Given the description of an element on the screen output the (x, y) to click on. 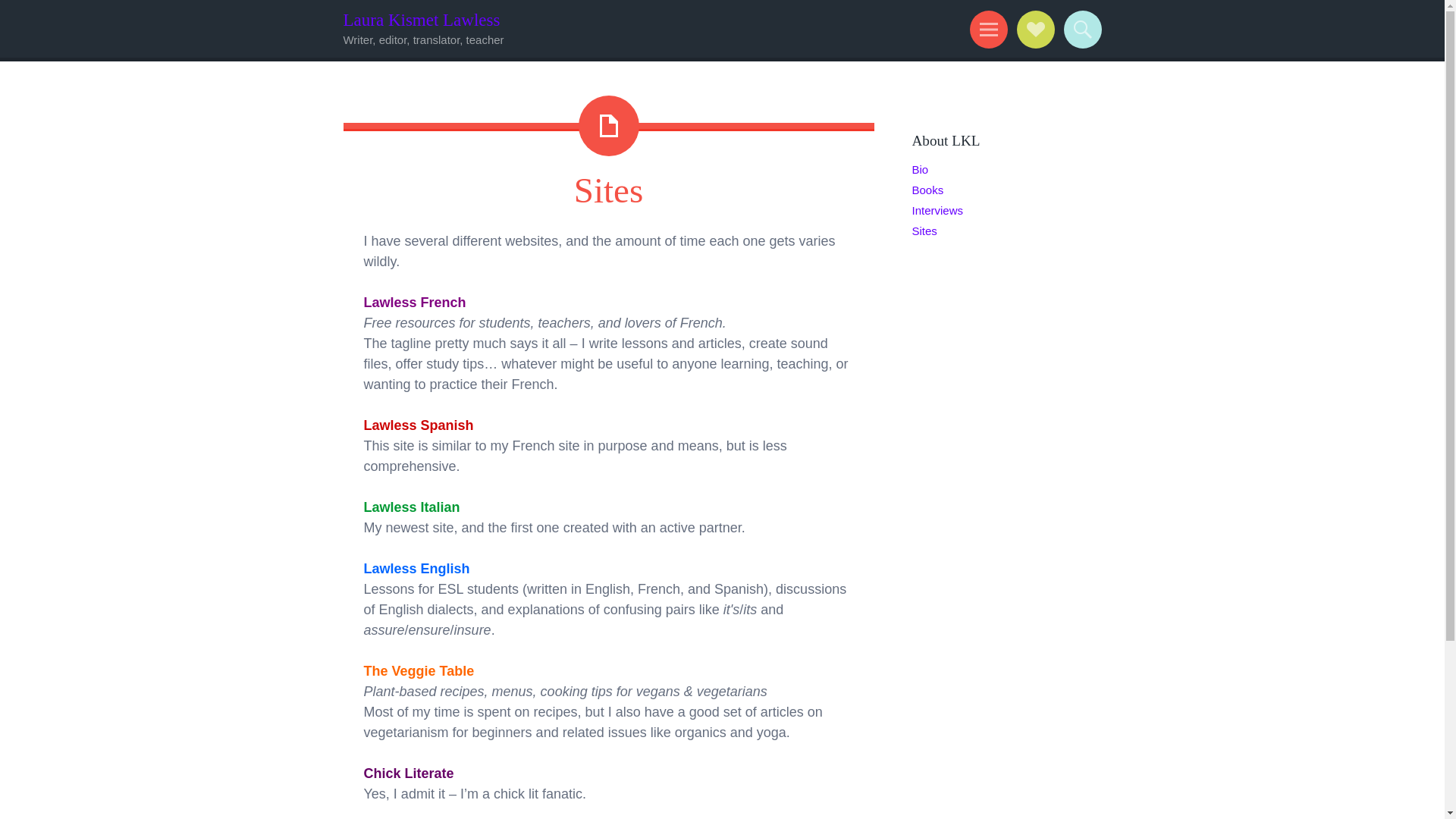
Chick Literate (409, 773)
Lawless Italian (412, 507)
Lawless French (414, 302)
Sites (923, 230)
Lawless English (417, 568)
Bio (919, 169)
Books (927, 189)
Social Links (1032, 29)
Laura Kismet Lawless (420, 19)
Interviews (936, 210)
Search (1080, 29)
Lawless Spanish (419, 425)
Menu (985, 29)
The Veggie Table (419, 670)
